Given the description of an element on the screen output the (x, y) to click on. 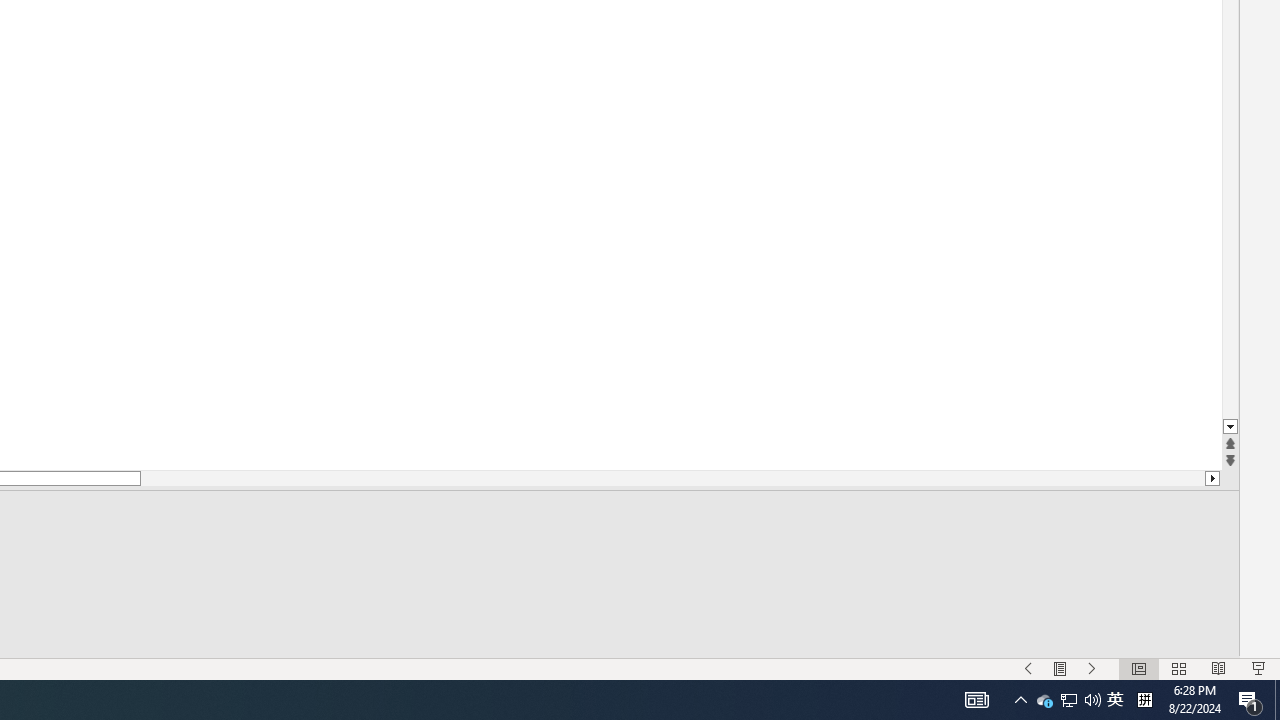
Slide Show Next On (1092, 668)
Menu On (1060, 668)
Slide Show Previous On (1028, 668)
